Given the description of an element on the screen output the (x, y) to click on. 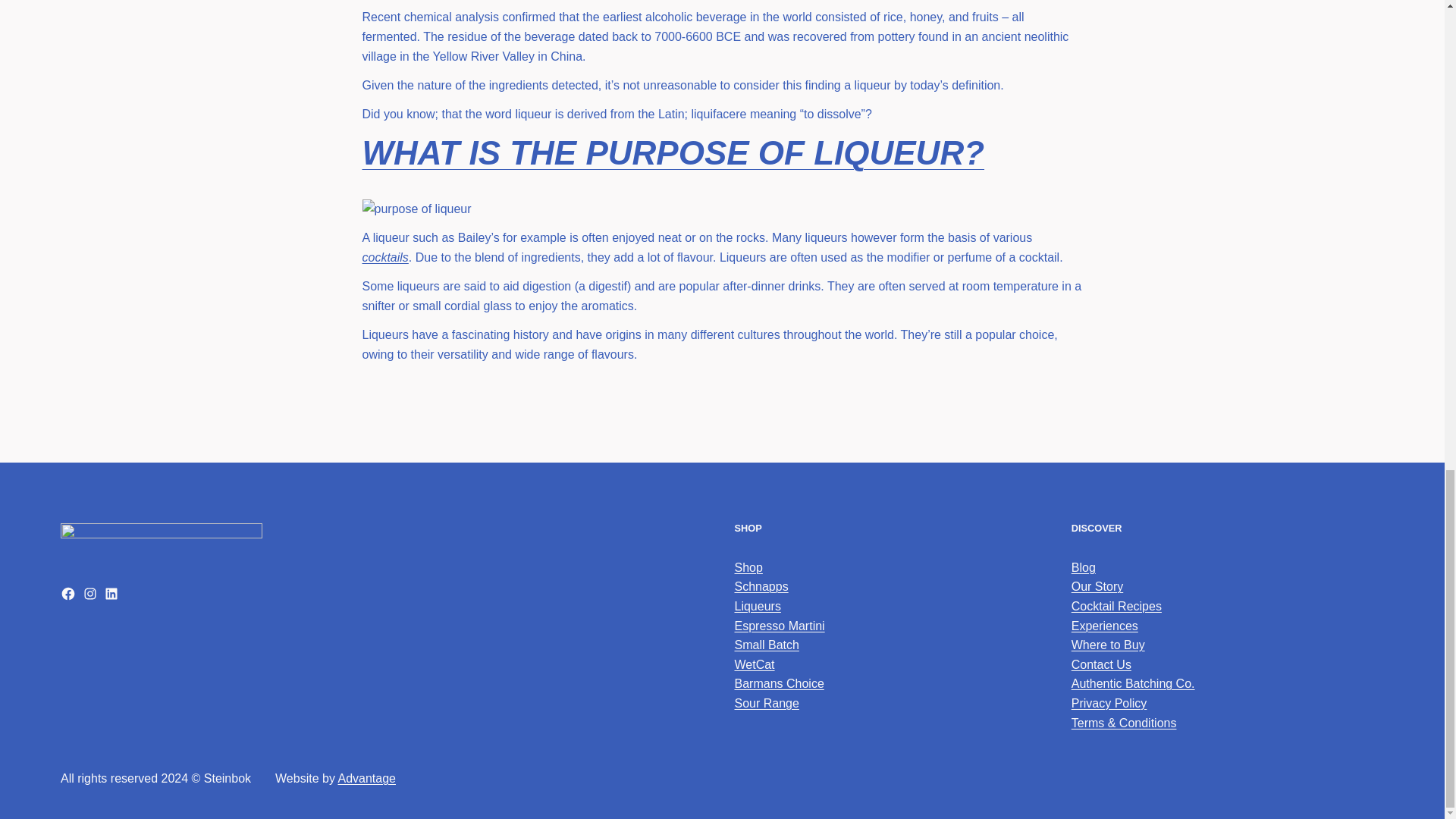
Schnapps (760, 585)
Shop (747, 567)
cocktails (385, 256)
Facebook (68, 593)
WHAT IS THE PURPOSE OF LIQUEUR? (673, 152)
Instagram (89, 593)
Small Batch (765, 644)
LinkedIn (111, 593)
Espresso Martini (778, 625)
Liqueurs (756, 605)
